Given the description of an element on the screen output the (x, y) to click on. 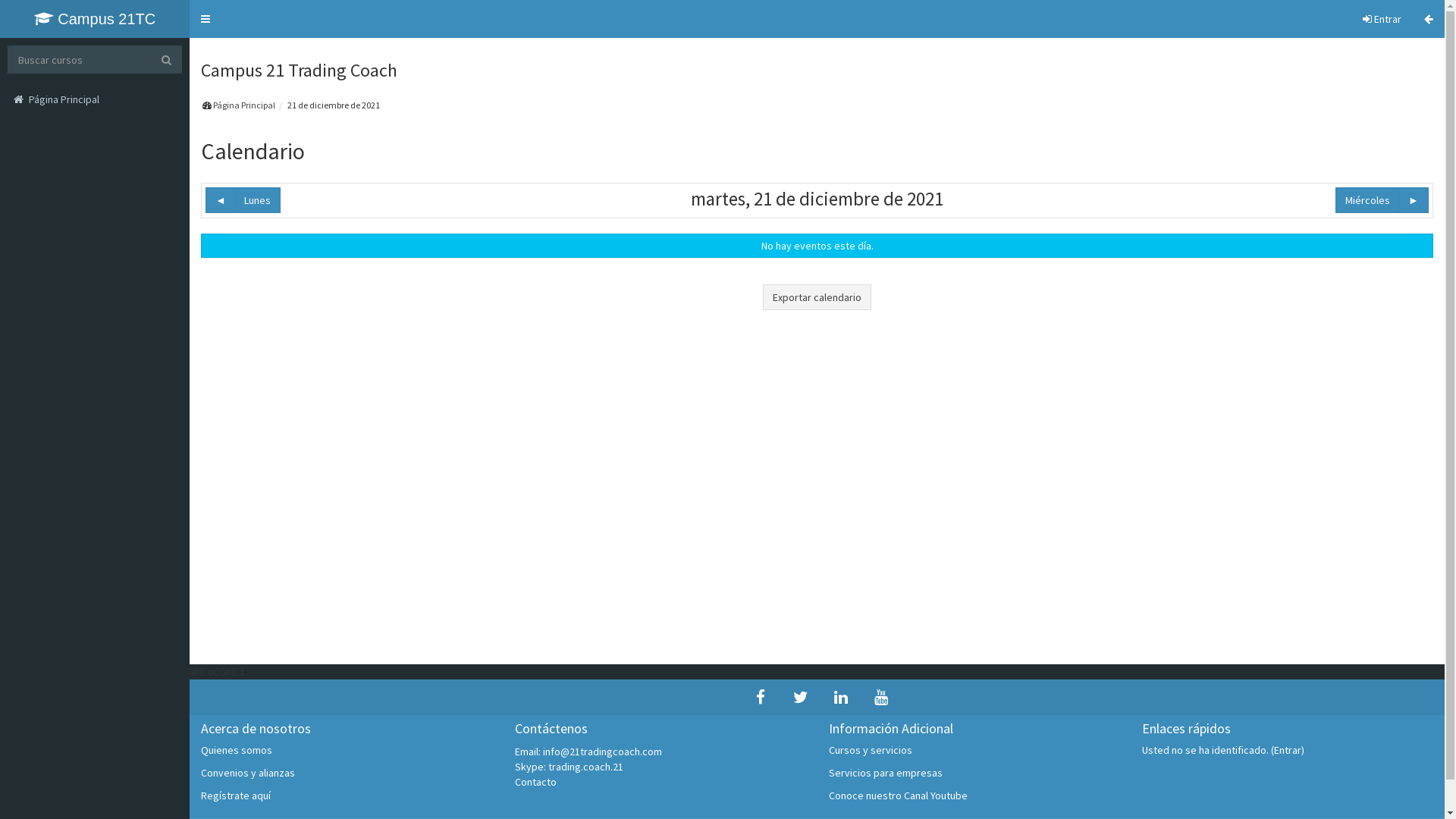
Servicios para empresas Element type: text (884, 772)
Entrar Element type: text (1287, 749)
Convenios y alianzas Element type: text (247, 772)
 Entrar Element type: text (1381, 18)
Saltar Vista del Mes Element type: text (1443, 150)
Quienes somos Element type: text (236, 749)
Toggle navigation Element type: text (205, 18)
Conoce nuestro Canal Youtube Element type: text (897, 795)
Exportar calendario Element type: text (816, 297)
Cursos y servicios Element type: text (869, 749)
Contacto Element type: text (535, 781)
Campus 21TC Element type: text (94, 18)
info@21tradingcoach.com Element type: text (602, 751)
Saltar Clave de eventos Element type: text (1443, 37)
